Given the description of an element on the screen output the (x, y) to click on. 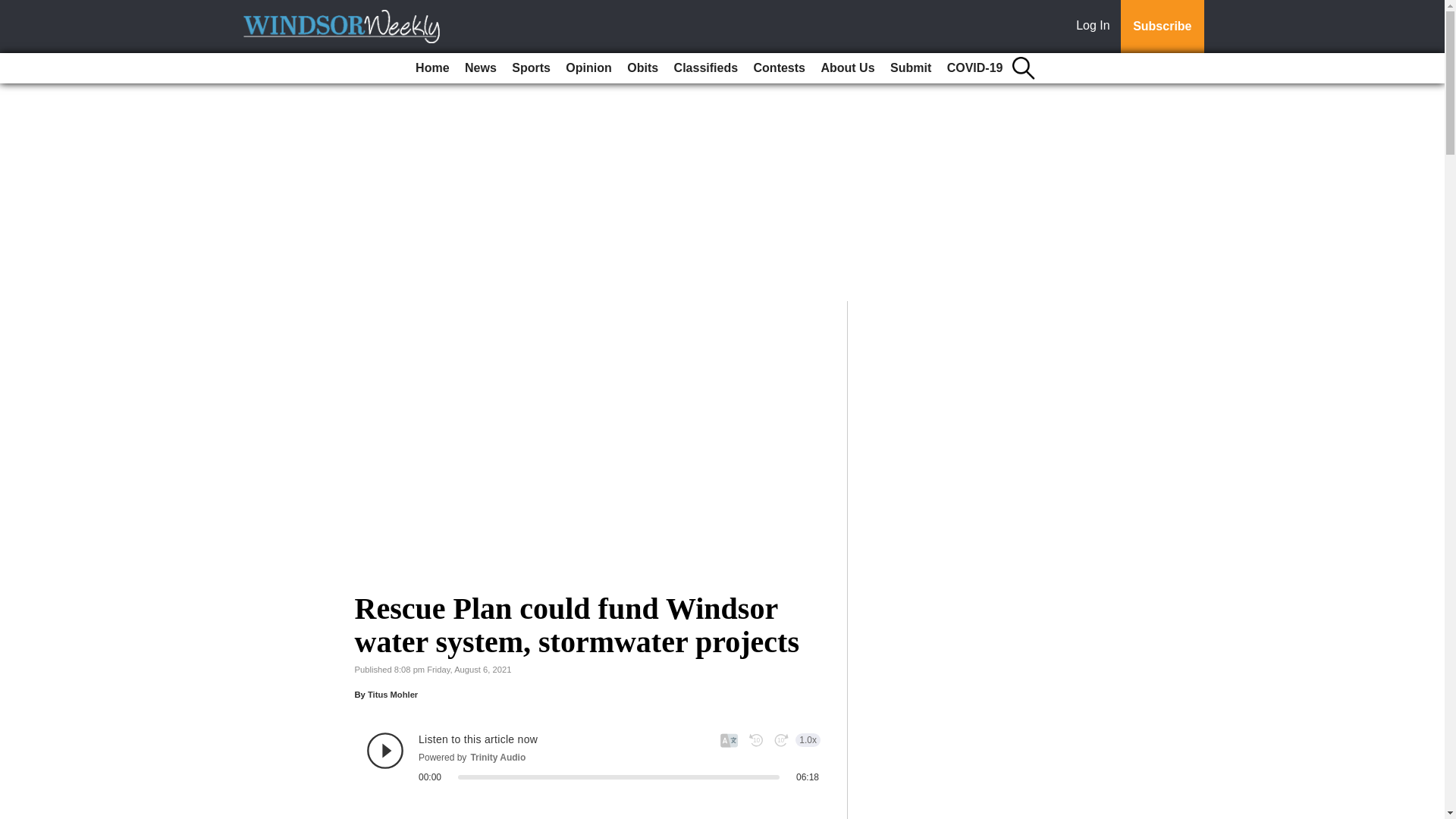
Opinion (588, 68)
News (480, 68)
About Us (846, 68)
Classifieds (706, 68)
Sports (530, 68)
Obits (642, 68)
Subscribe (1162, 26)
Home (431, 68)
Contests (779, 68)
COVID-19 (974, 68)
